Given the description of an element on the screen output the (x, y) to click on. 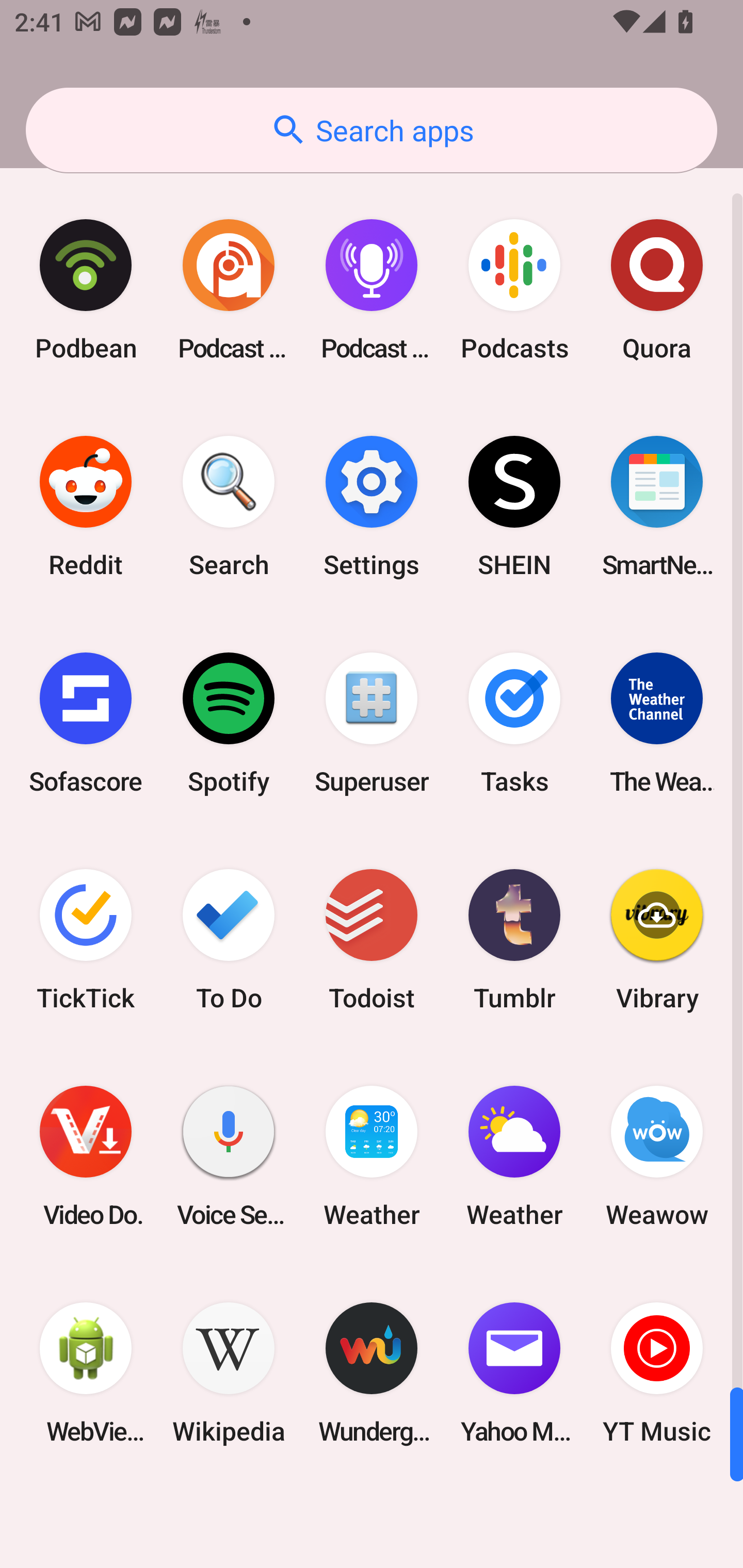
  Search apps (371, 130)
Podbean (85, 289)
Podcast Addict (228, 289)
Podcast Player (371, 289)
Podcasts (514, 289)
Quora (656, 289)
Reddit (85, 506)
Search (228, 506)
Settings (371, 506)
SHEIN (514, 506)
SmartNews (656, 506)
Sofascore (85, 722)
Spotify (228, 722)
Superuser (371, 722)
Tasks (514, 722)
The Weather Channel (656, 722)
TickTick (85, 939)
To Do (228, 939)
Todoist (371, 939)
Tumblr (514, 939)
Vibrary (656, 939)
Video Downloader & Ace Player (85, 1156)
Voice Search (228, 1156)
Weather (371, 1156)
Weather (514, 1156)
Weawow (656, 1156)
WebView Browser Tester (85, 1373)
Wikipedia (228, 1373)
Wunderground (371, 1373)
Yahoo Mail (514, 1373)
YT Music (656, 1373)
